Given the description of an element on the screen output the (x, y) to click on. 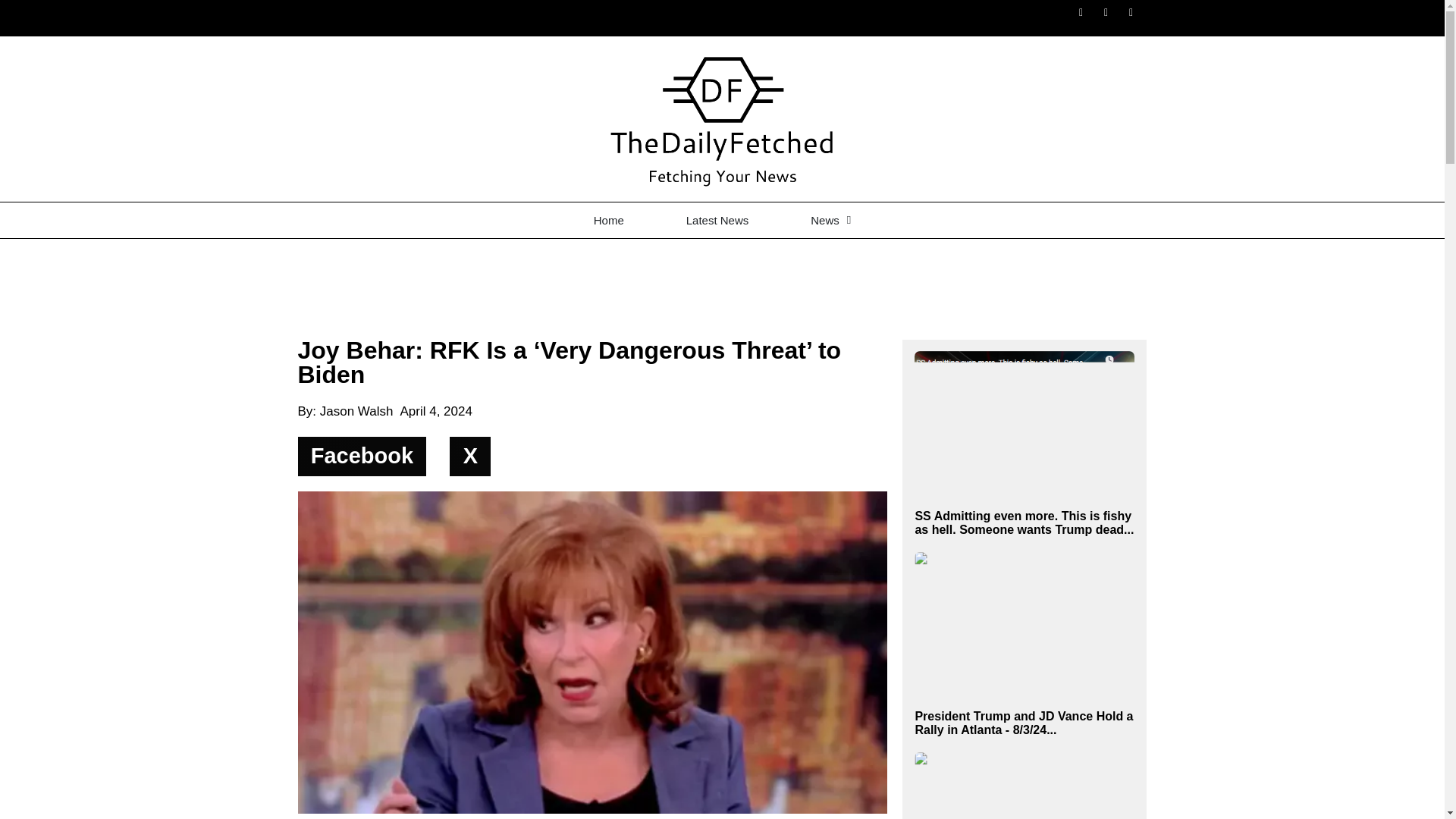
April 4, 2024 (434, 411)
By: Jason Walsh (345, 411)
Home (608, 220)
Latest News (717, 220)
News (830, 220)
